Given the description of an element on the screen output the (x, y) to click on. 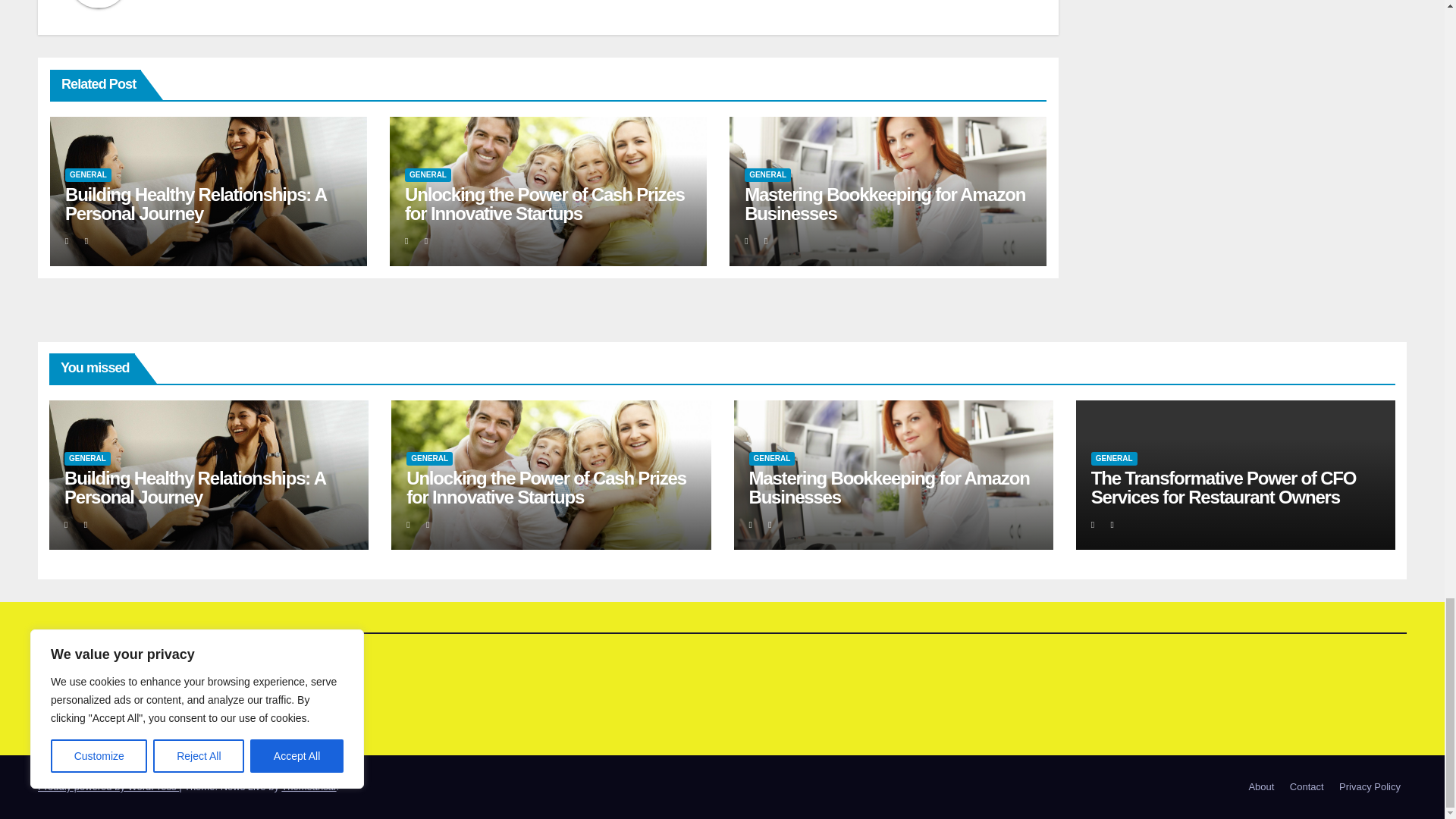
Permalink to: Mastering Bookkeeping for Amazon Businesses (889, 486)
Contact (1307, 786)
Permalink to: Mastering Bookkeeping for Amazon Businesses (884, 203)
About (1260, 786)
Privacy Policy (1369, 786)
